Given the description of an element on the screen output the (x, y) to click on. 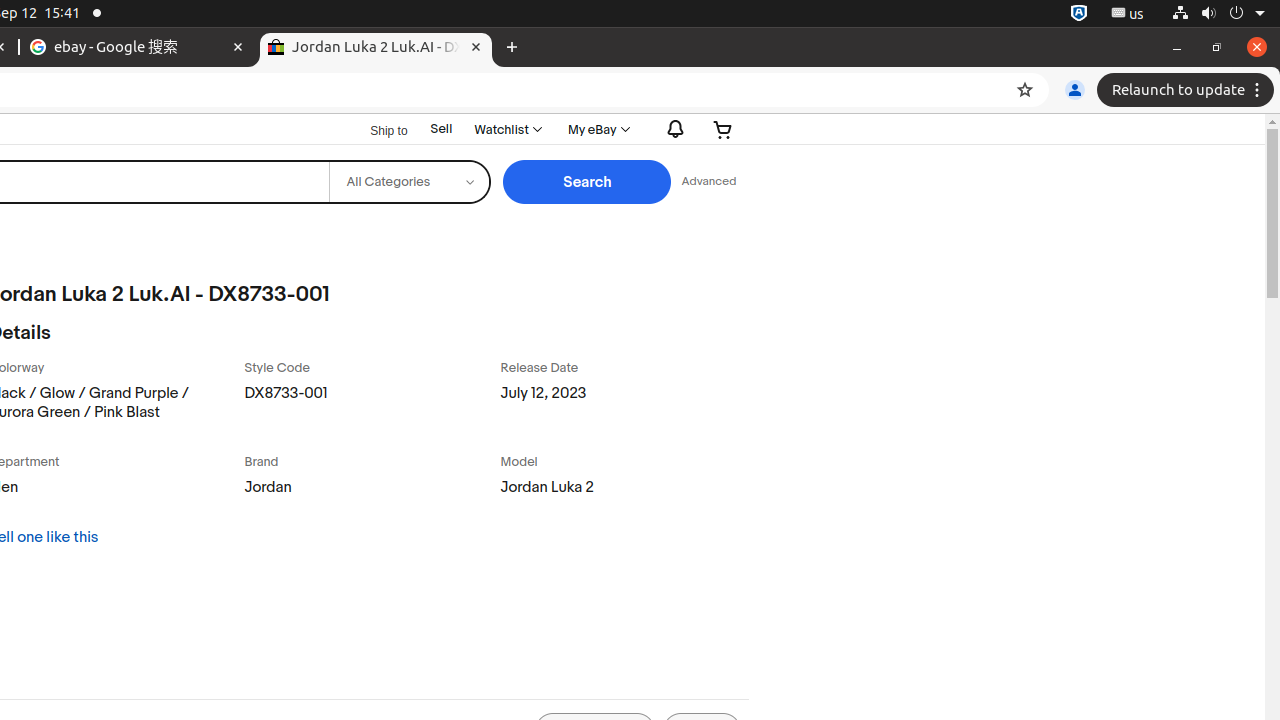
Search Element type: push-button (587, 182)
Ship to Element type: push-button (376, 130)
DX8733-001 Element type: table-cell (368, 405)
Jordan Element type: table-cell (368, 492)
Relaunch to update Element type: push-button (1188, 90)
